Given the description of an element on the screen output the (x, y) to click on. 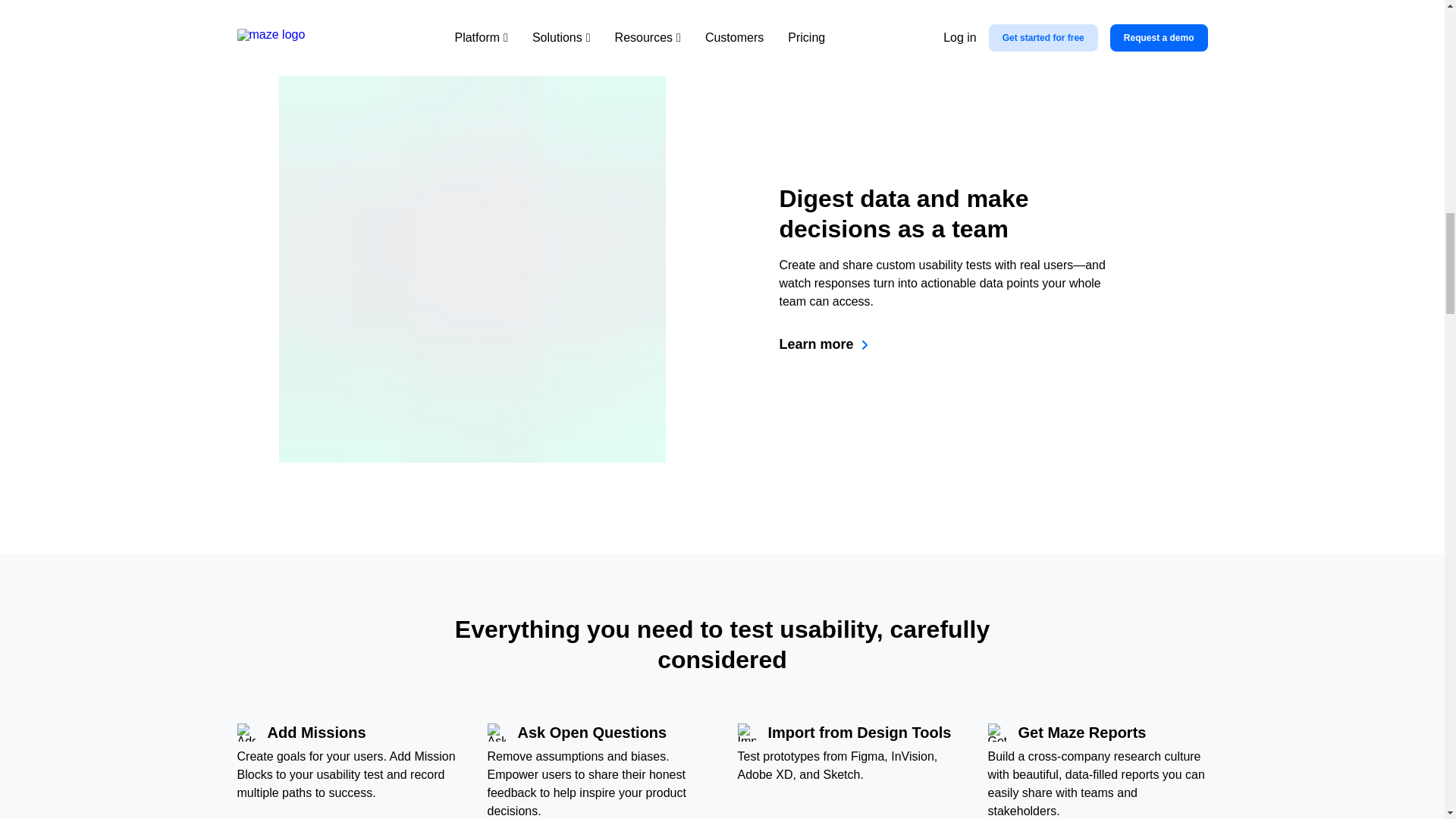
Import from Design Tools (745, 732)
Ask Open Questions (495, 732)
Add Missions (244, 732)
Get Maze Reports (996, 732)
